Given the description of an element on the screen output the (x, y) to click on. 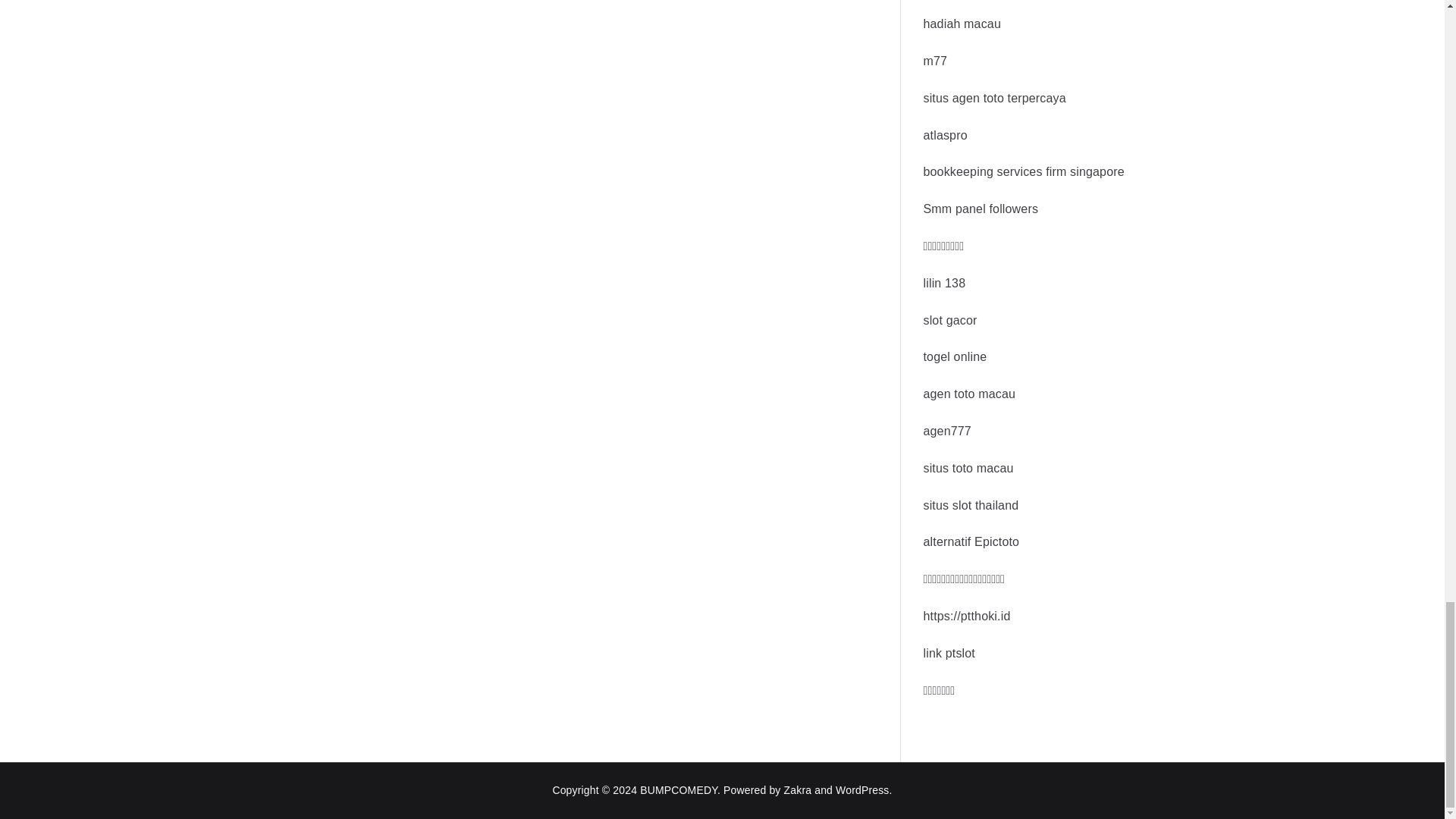
WordPress (861, 789)
BUMPCOMEDY (678, 789)
Zakra (798, 789)
